Given the description of an element on the screen output the (x, y) to click on. 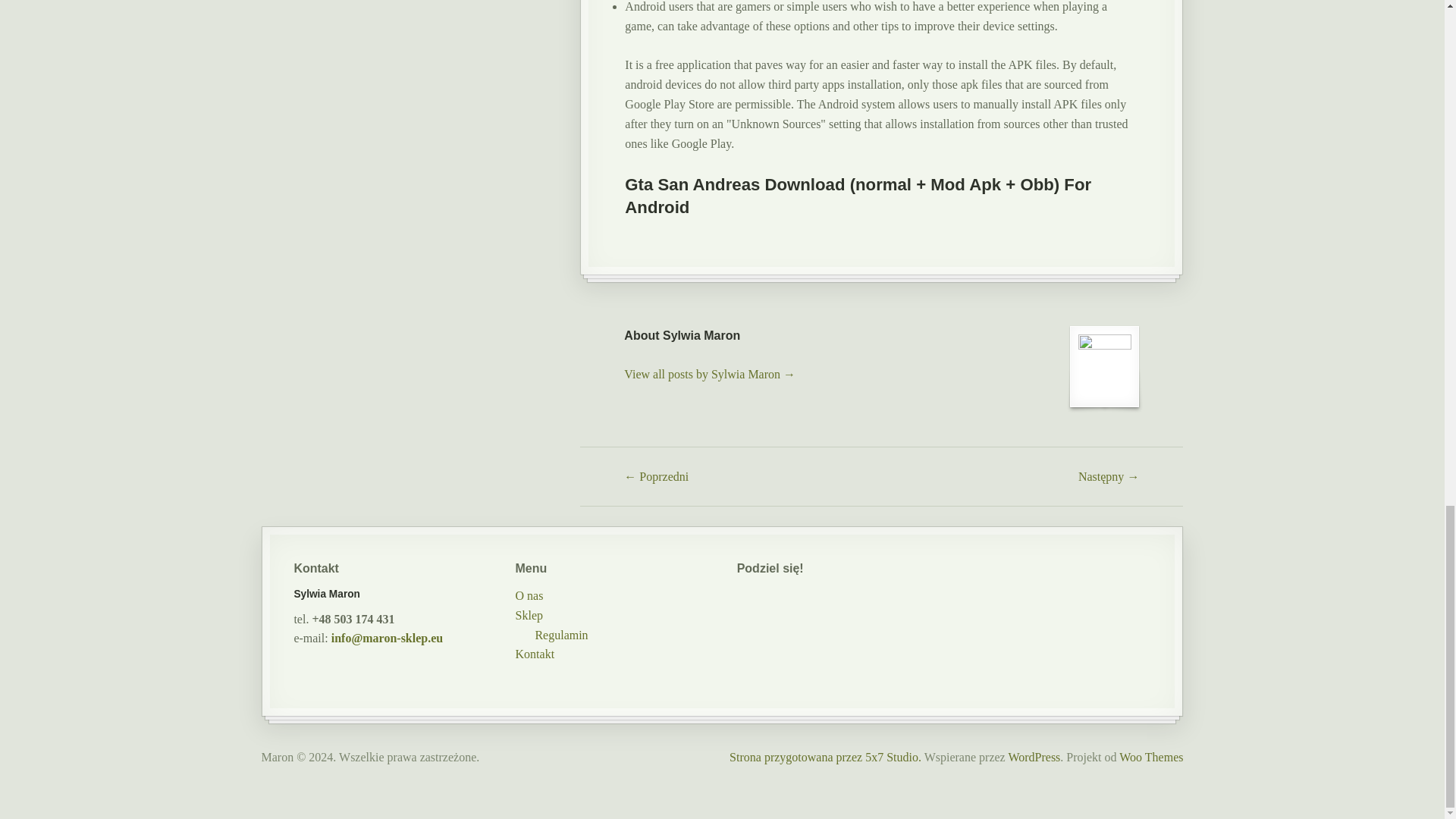
Strona przygotowana przez 5x7 Studio. (825, 757)
O nas (529, 594)
Sklep (529, 615)
WordPress (1033, 757)
Regulamin (561, 634)
Kontakt (534, 653)
